Given the description of an element on the screen output the (x, y) to click on. 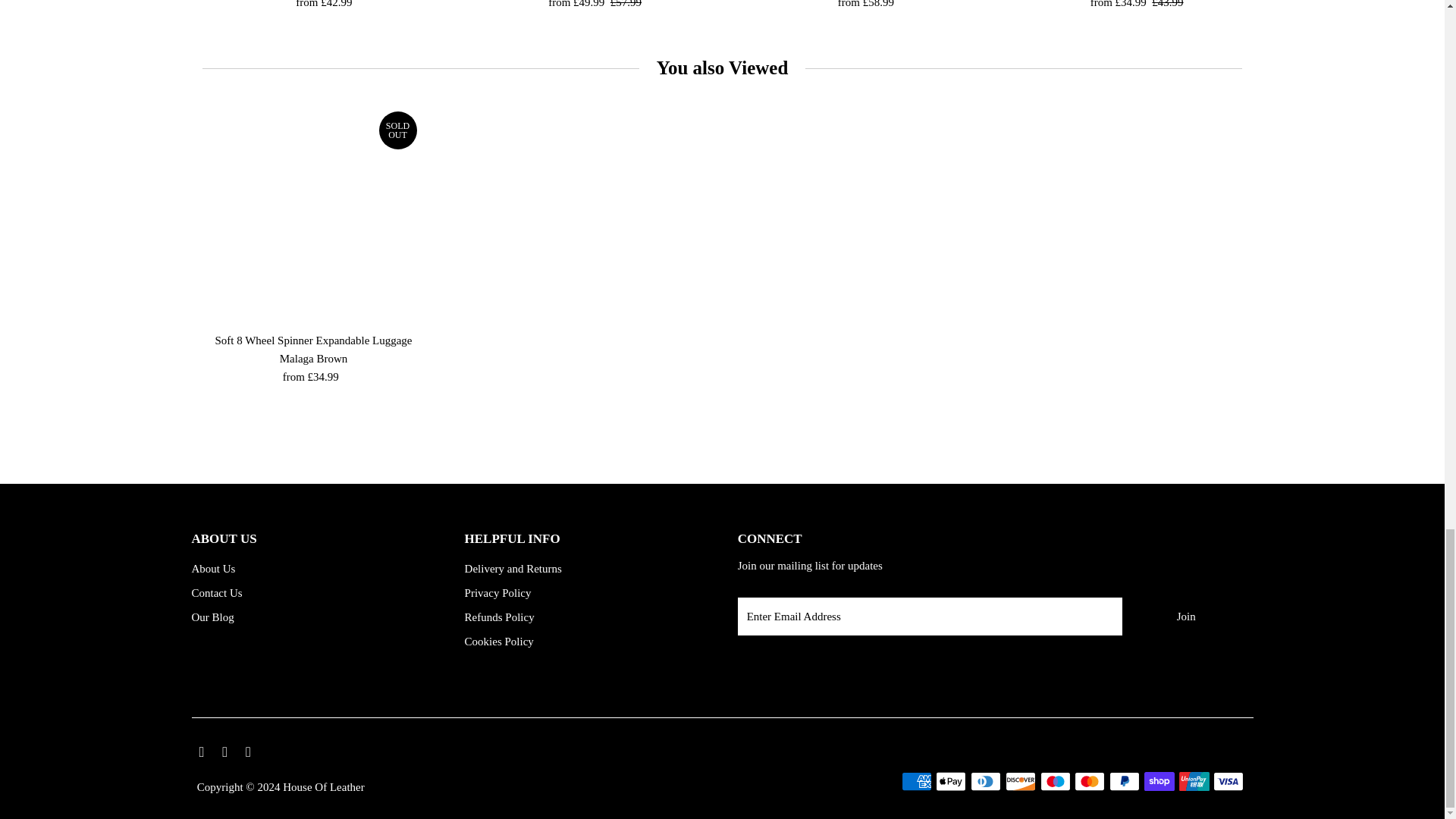
Apple Pay (951, 781)
PayPal (1124, 781)
Discover (1020, 781)
Mastercard (1089, 781)
Shop Pay (1159, 781)
Soft 8 Wheel Spinner Expandable Luggage Malaga Brown (314, 214)
Maestro (1055, 781)
Visa (1227, 781)
Union Pay (1194, 781)
Join (1186, 616)
